Given the description of an element on the screen output the (x, y) to click on. 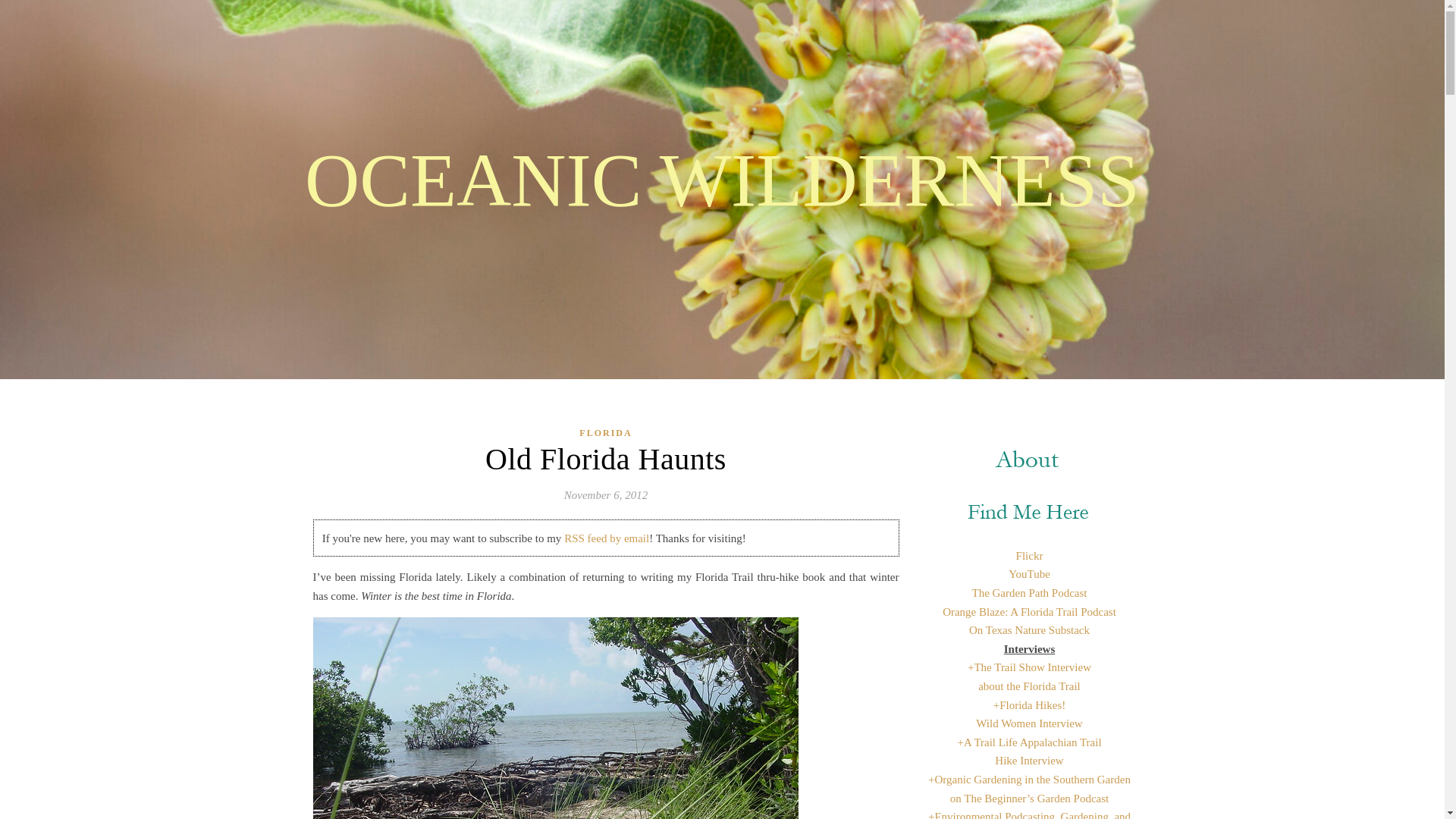
FLORIDA (605, 433)
YouTube (1029, 573)
Flickr (1029, 555)
RSS feed by email (606, 538)
DSC06492 by Oceanic Wilderness, on Flickr (605, 718)
